Given the description of an element on the screen output the (x, y) to click on. 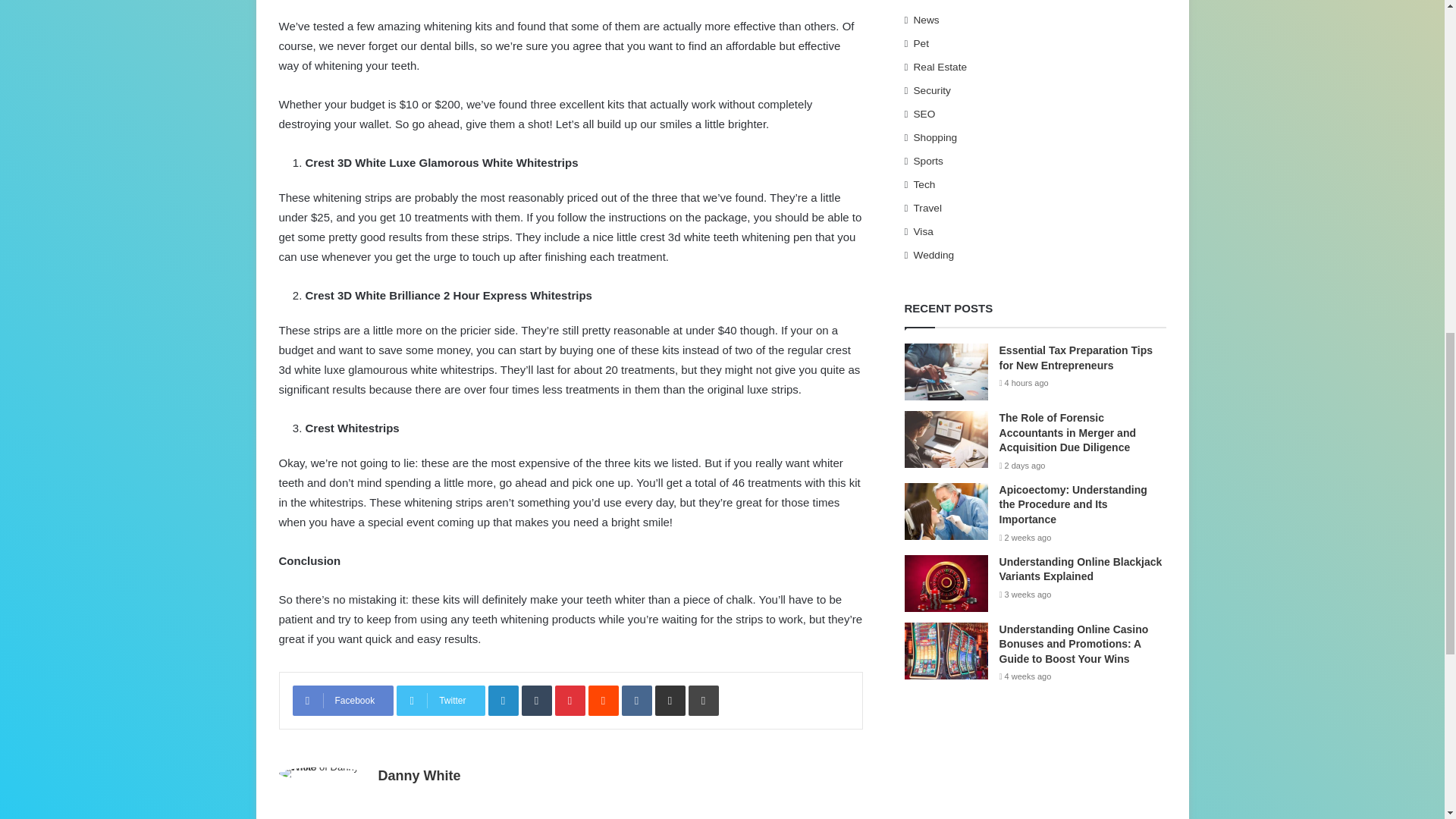
Danny White (418, 775)
Share via Email (670, 700)
VKontakte (636, 700)
Twitter (440, 700)
Tumblr (536, 700)
Pinterest (569, 700)
Reddit (603, 700)
Facebook (343, 700)
Print (703, 700)
LinkedIn (502, 700)
